Given the description of an element on the screen output the (x, y) to click on. 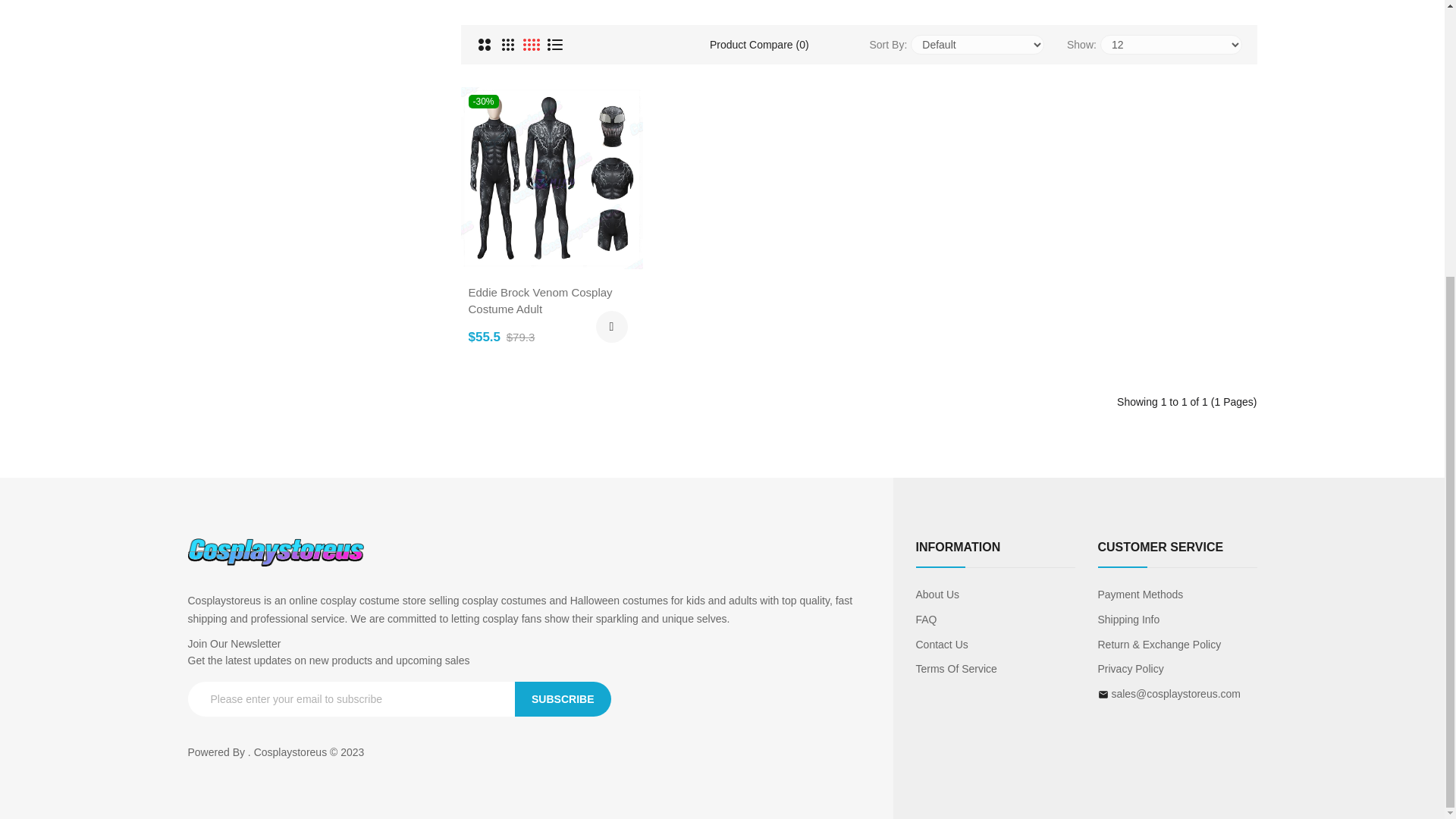
Add to Cart (611, 327)
Eddie Brock Venom Cosplay Costume Adult (552, 177)
